Given the description of an element on the screen output the (x, y) to click on. 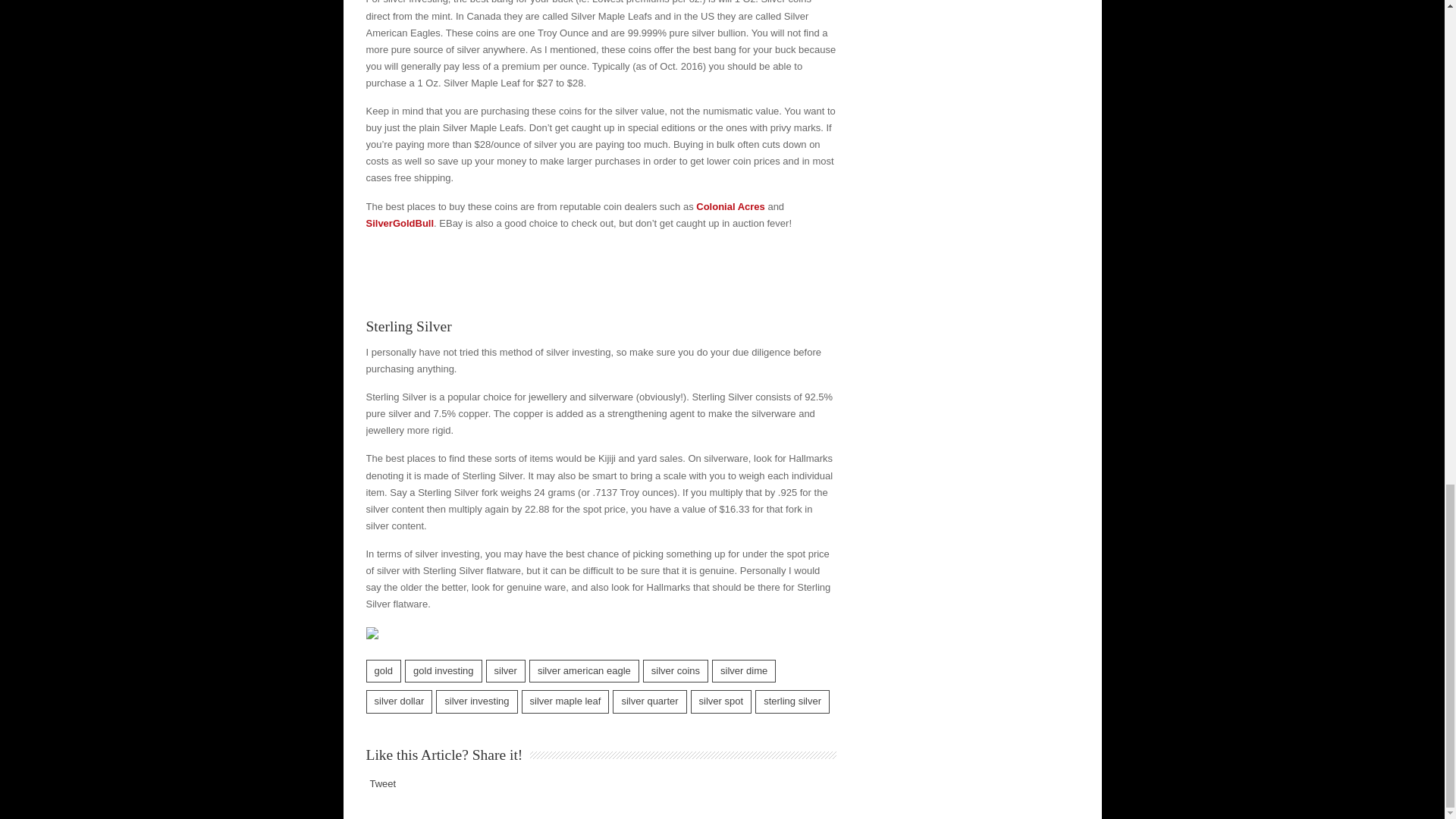
silver american eagle (584, 671)
silver dollar (398, 701)
silver coins (675, 671)
gold investing (442, 671)
SilverGoldBull (399, 223)
silver (505, 671)
silver maple leaf (565, 701)
silver investing (475, 701)
gold (383, 671)
silver dime (743, 671)
Colonial Acres (730, 206)
